Given the description of an element on the screen output the (x, y) to click on. 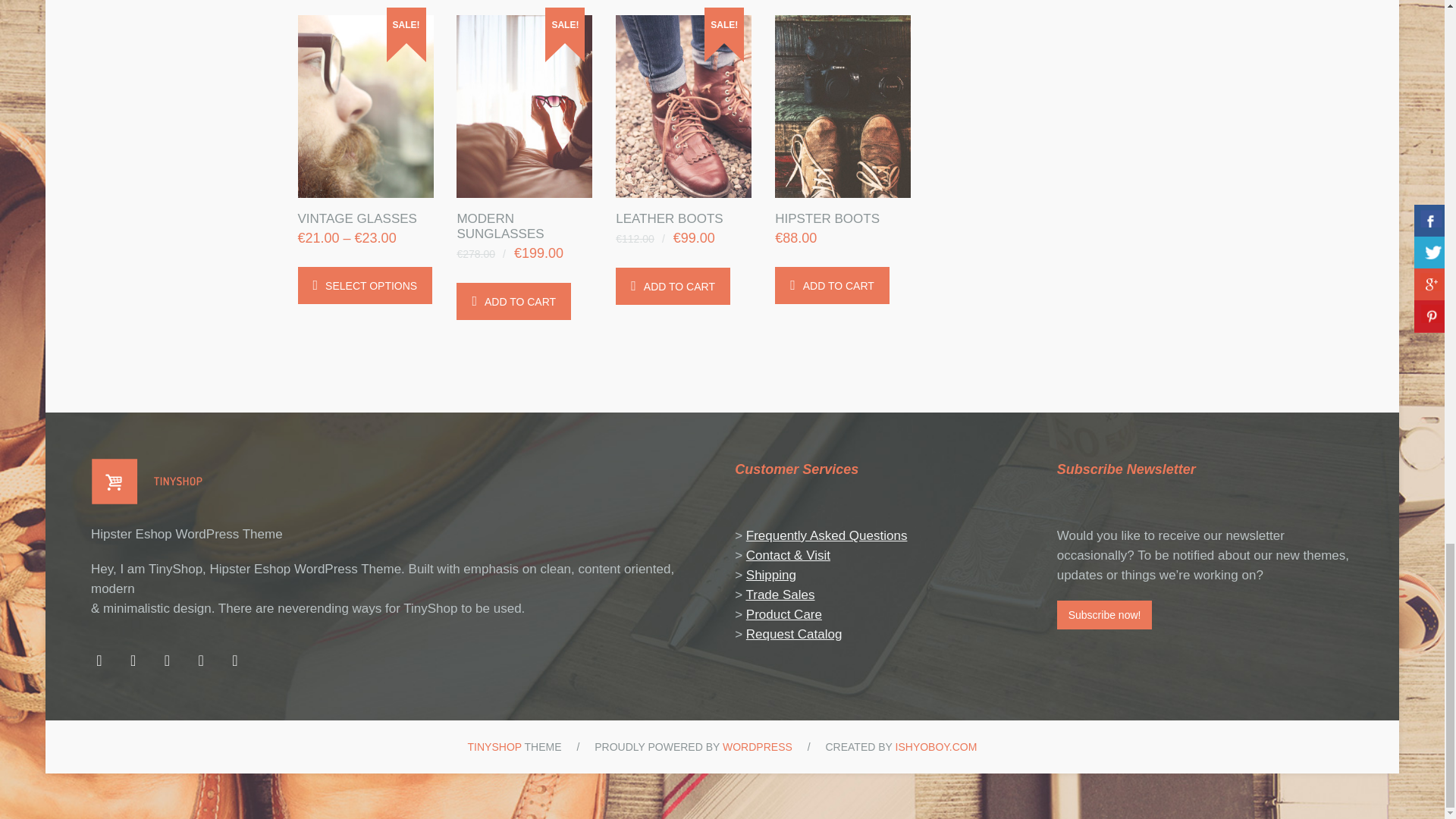
TinyShop (494, 746)
WordPress (757, 746)
IshYoBoy.com (935, 746)
